Given the description of an element on the screen output the (x, y) to click on. 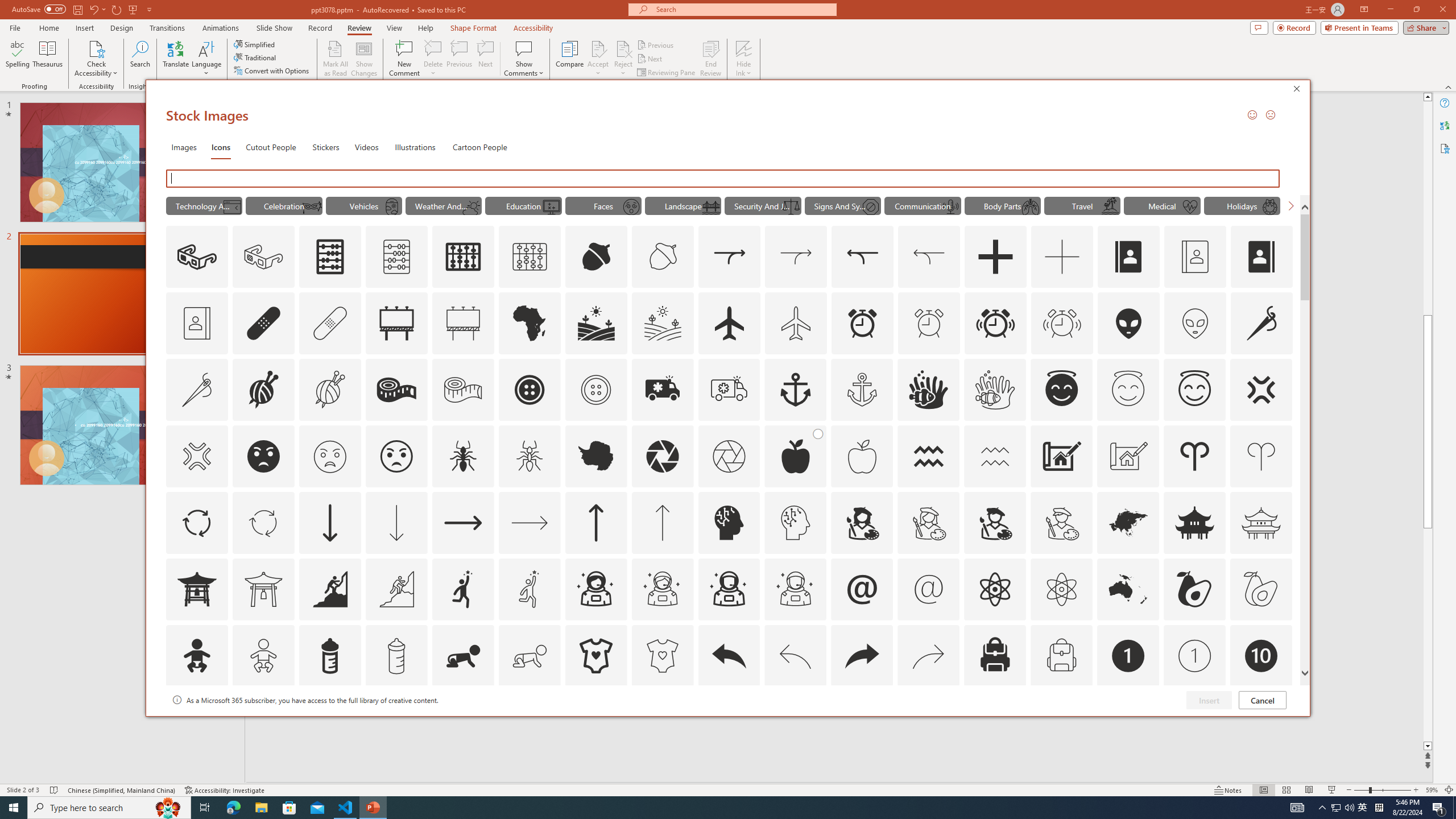
AutomationID: Icons_Aquarius_M (995, 455)
AutomationID: Icons_AlterationsTailoring1_M (329, 389)
AutomationID: Icons_Back_RTL (861, 655)
AutomationID: Icons_Anchor_M (861, 389)
AutomationID: Icons_Acquisition_RTL_M (928, 256)
Reject Change (622, 48)
AutomationID: Icons_AngryFace_Outline (395, 455)
AutomationID: Icons_Badge4_M (595, 721)
